Given the description of an element on the screen output the (x, y) to click on. 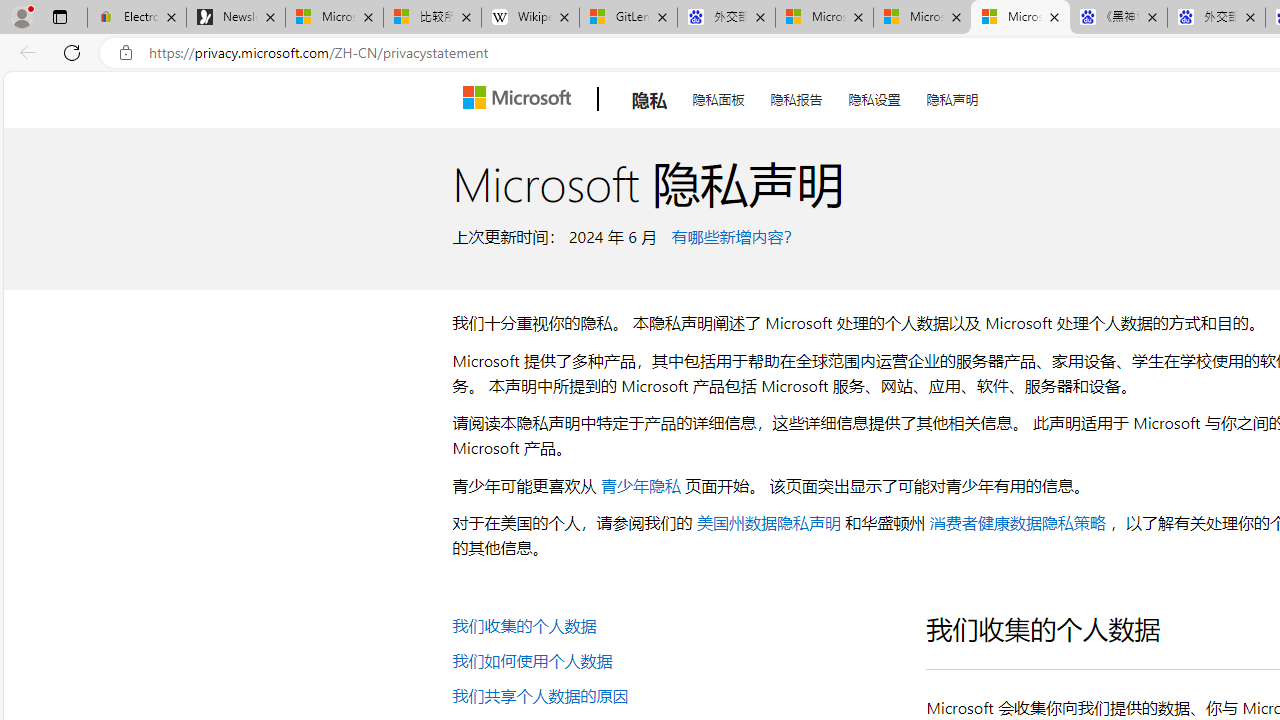
Newsletter Sign Up (235, 17)
